Given the description of an element on the screen output the (x, y) to click on. 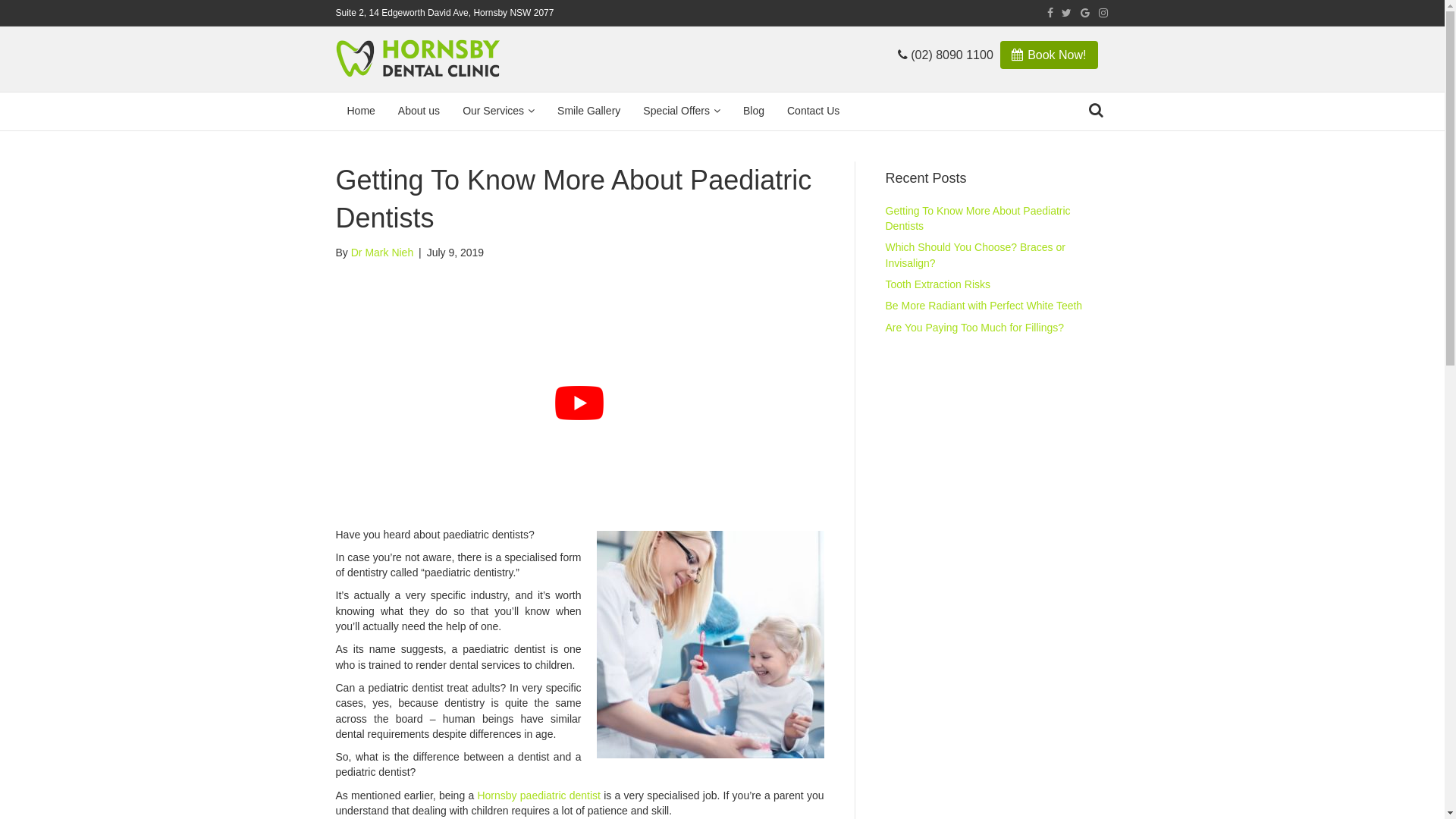
Special Offers Element type: text (681, 111)
Our Services Element type: text (498, 111)
Home Element type: text (360, 111)
Be More Radiant with Perfect White Teeth Element type: text (983, 305)
Hornsby paediatric dentist Element type: text (538, 795)
Smile Gallery Element type: text (588, 111)
Are You Paying Too Much for Fillings? Element type: text (974, 327)
Which Should You Choose? Braces or Invisalign? Element type: text (975, 254)
Tooth Extraction Risks Element type: text (938, 284)
Contact Us Element type: text (812, 111)
Blog Element type: text (753, 111)
About us Element type: text (418, 111)
Getting To Know More About Paediatric Dentists Element type: text (977, 218)
Dr Mark Nieh Element type: text (382, 252)
Book Now! Element type: text (1049, 54)
